Given the description of an element on the screen output the (x, y) to click on. 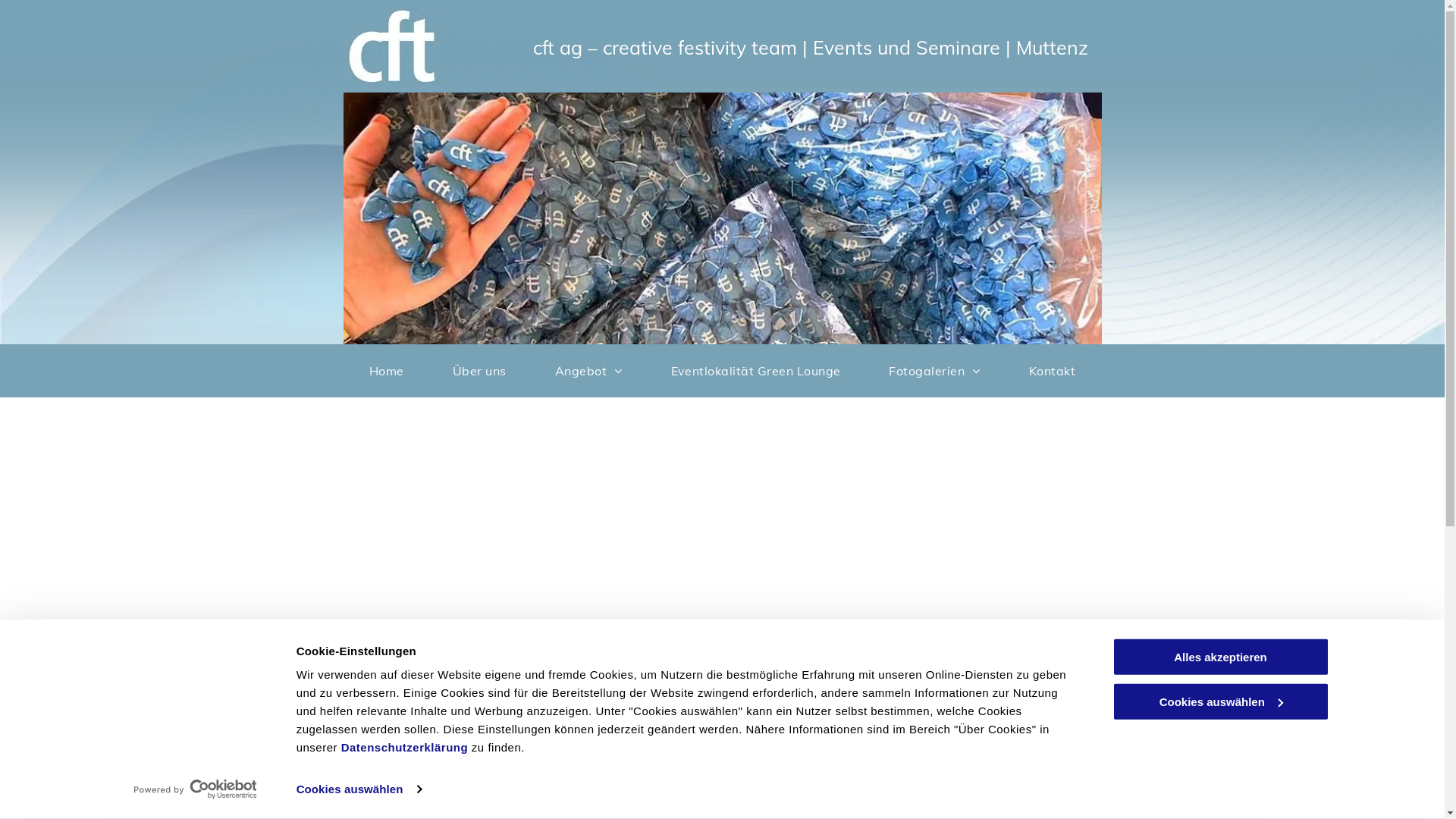
Angebot Element type: text (588, 370)
Fotogalerien Element type: text (934, 370)
Alles akzeptieren Element type: text (1219, 656)
Kontakt Element type: text (1051, 370)
Home Element type: text (386, 370)
